Given the description of an element on the screen output the (x, y) to click on. 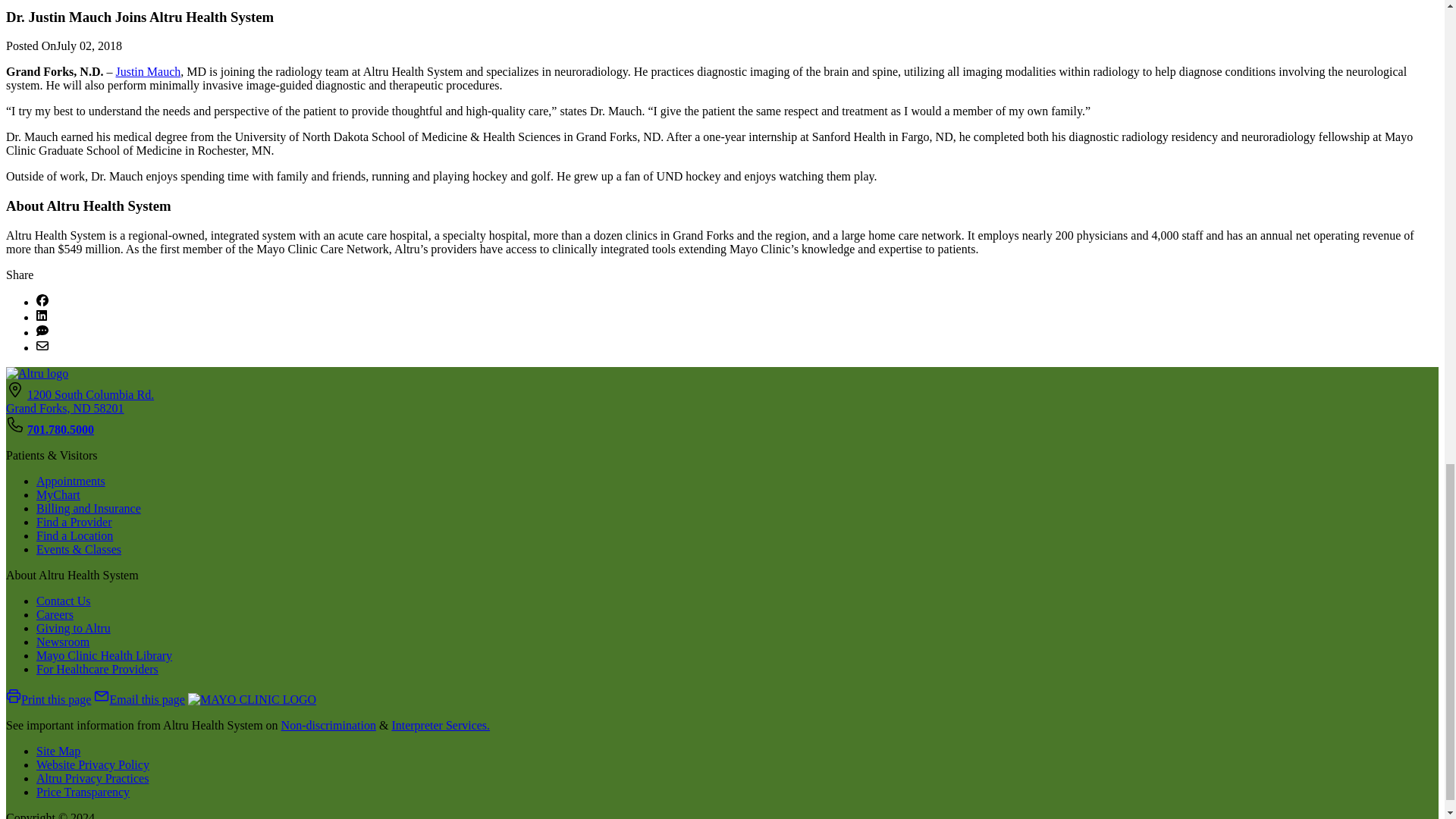
Facebook (42, 301)
Linkedin (41, 317)
Email (42, 347)
